Given the description of an element on the screen output the (x, y) to click on. 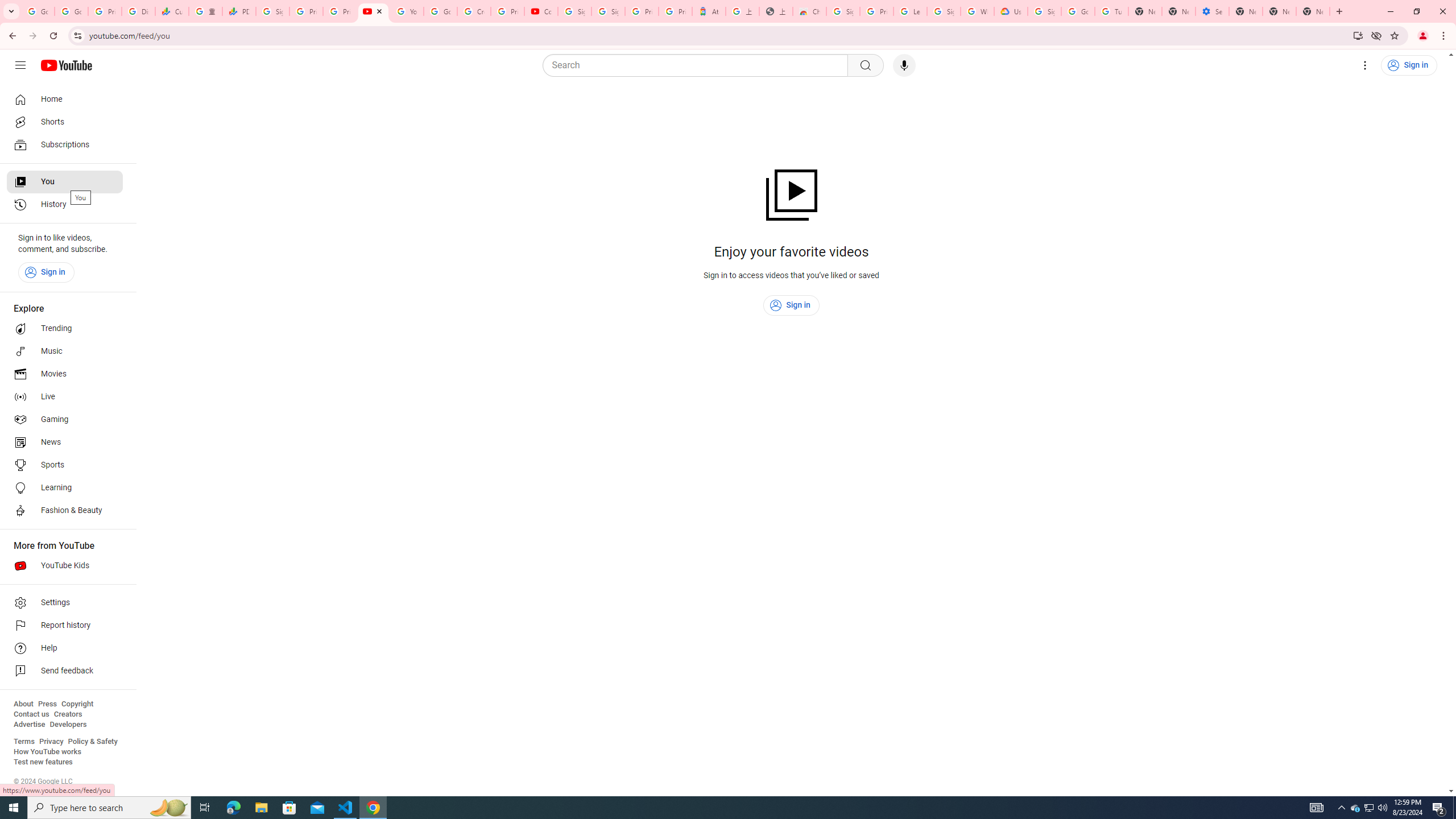
Create your Google Account (474, 11)
PDD Holdings Inc - ADR (PDD) Price & News - Google Finance (238, 11)
Developers (68, 724)
Fashion & Beauty (64, 510)
Gaming (64, 419)
Sports (64, 464)
Shorts (64, 121)
Sign in - Google Accounts (574, 11)
Google Account Help (441, 11)
